Given the description of an element on the screen output the (x, y) to click on. 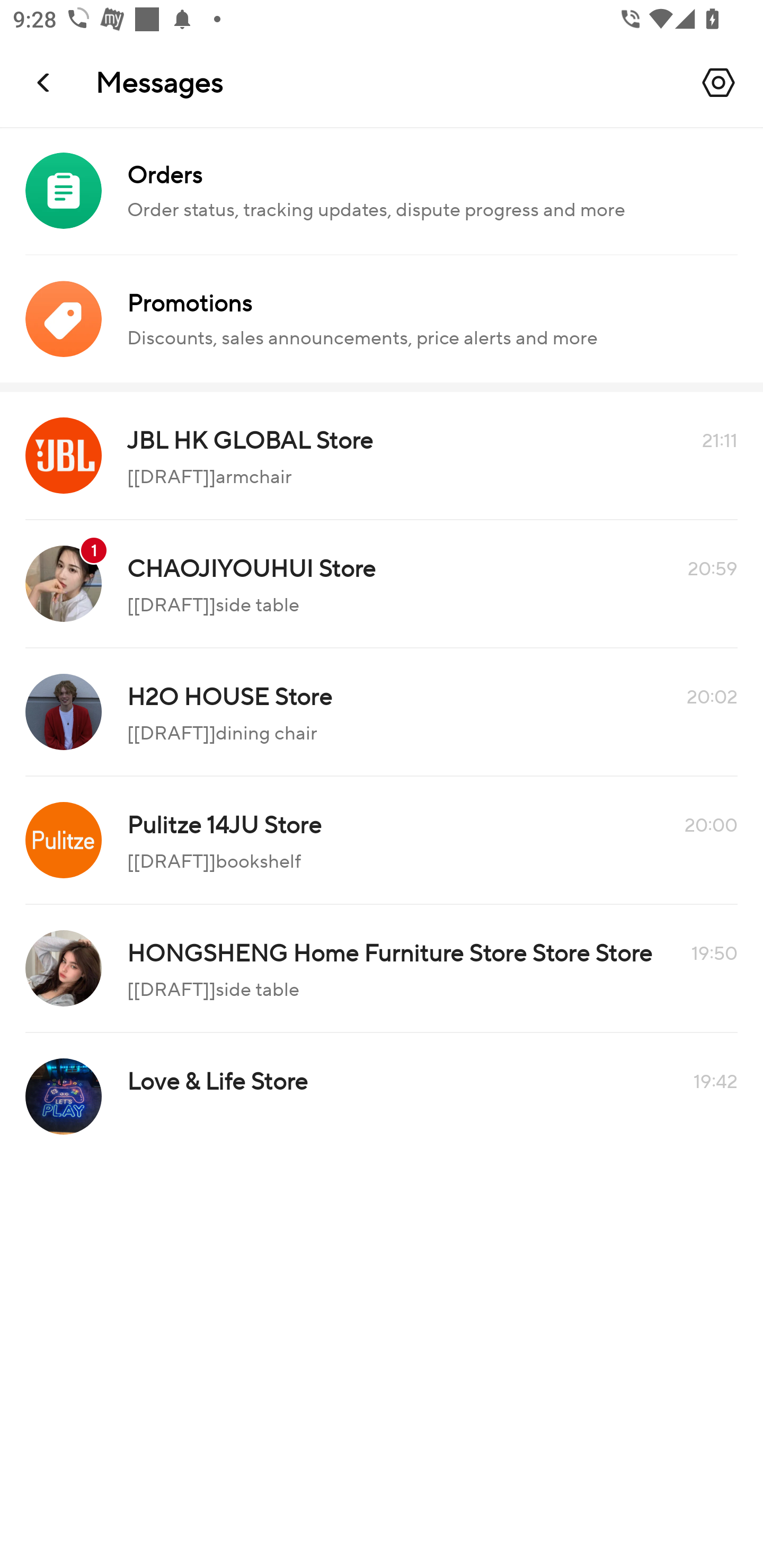
Navigate up (44, 82)
